Given the description of an element on the screen output the (x, y) to click on. 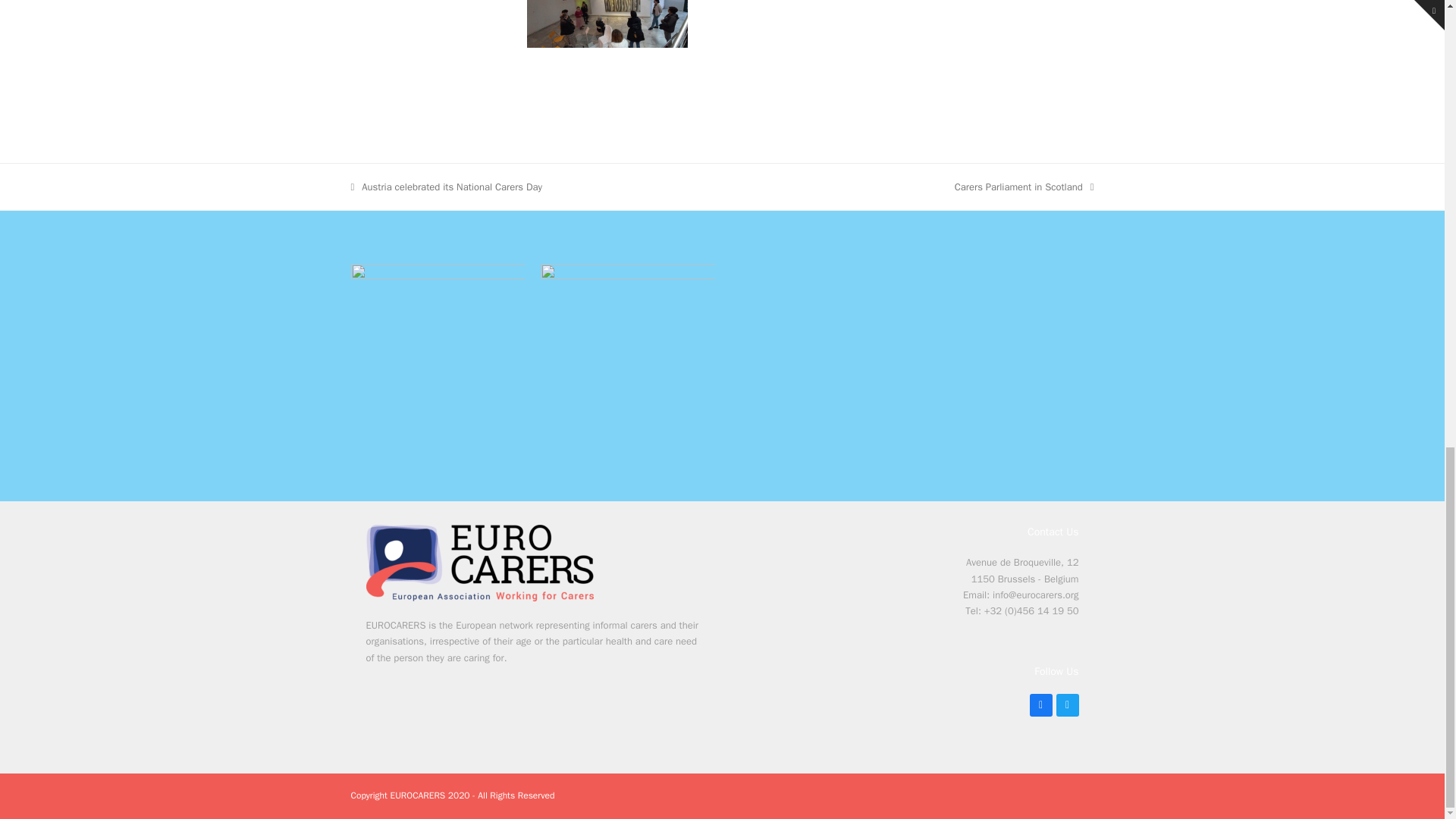
Timeline to new EN institutional leadership (430, 4)
Facebook (1040, 704)
Twitter (1066, 704)
